Given the description of an element on the screen output the (x, y) to click on. 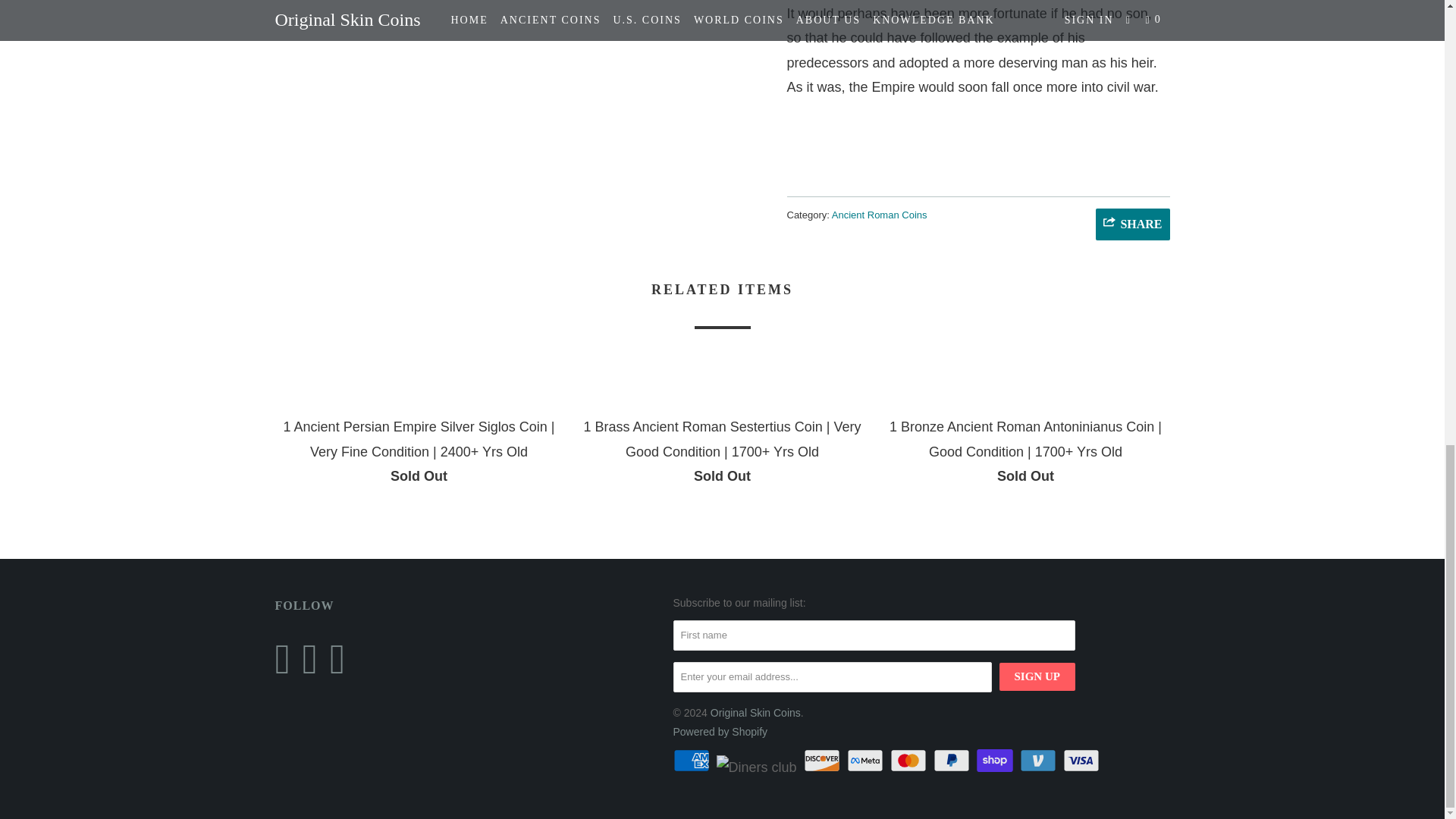
Sign Up (1036, 676)
Products tagged Ancient Roman Coins (879, 214)
